Given the description of an element on the screen output the (x, y) to click on. 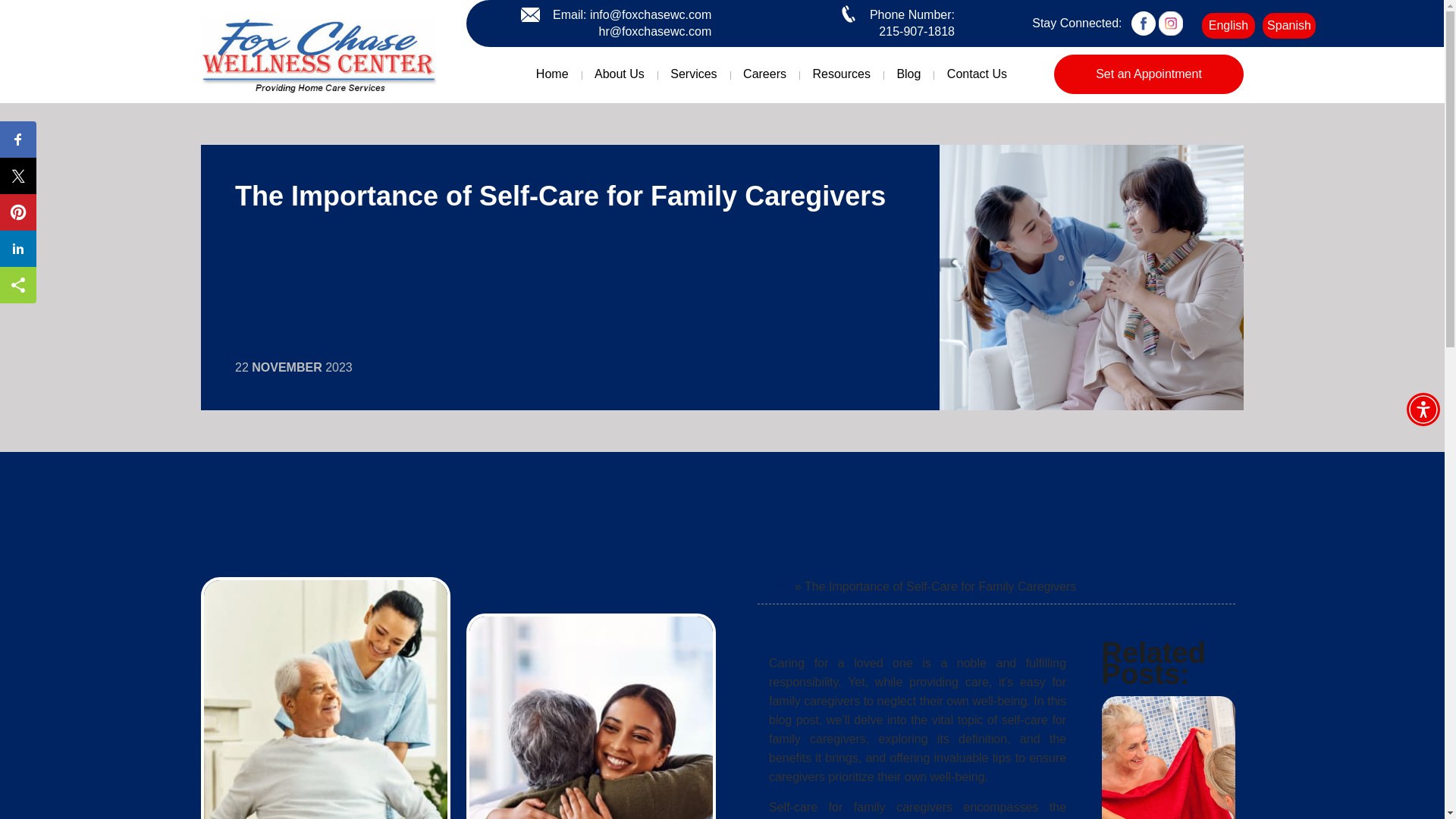
Services (693, 74)
Blog (908, 74)
Careers (764, 74)
About Us (619, 74)
Home (551, 74)
Resources (840, 74)
Set an Appointment (1148, 74)
Home (773, 585)
English (1228, 25)
Spanish (1289, 25)
Contact Us (976, 74)
Accessibility Menu (1422, 409)
